Given the description of an element on the screen output the (x, y) to click on. 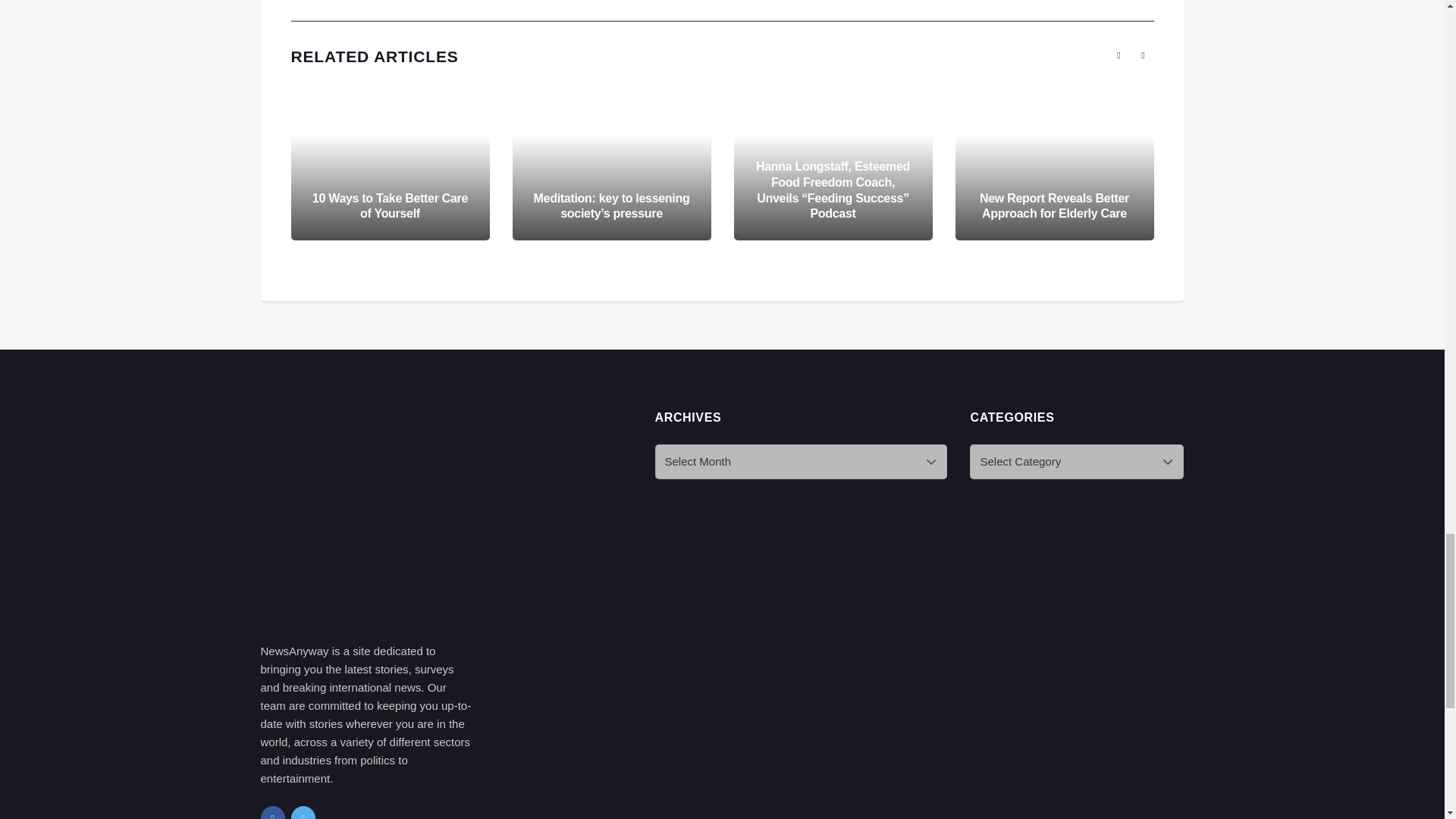
10 Ways to Take Better Care of Yourself (390, 205)
